Given the description of an element on the screen output the (x, y) to click on. 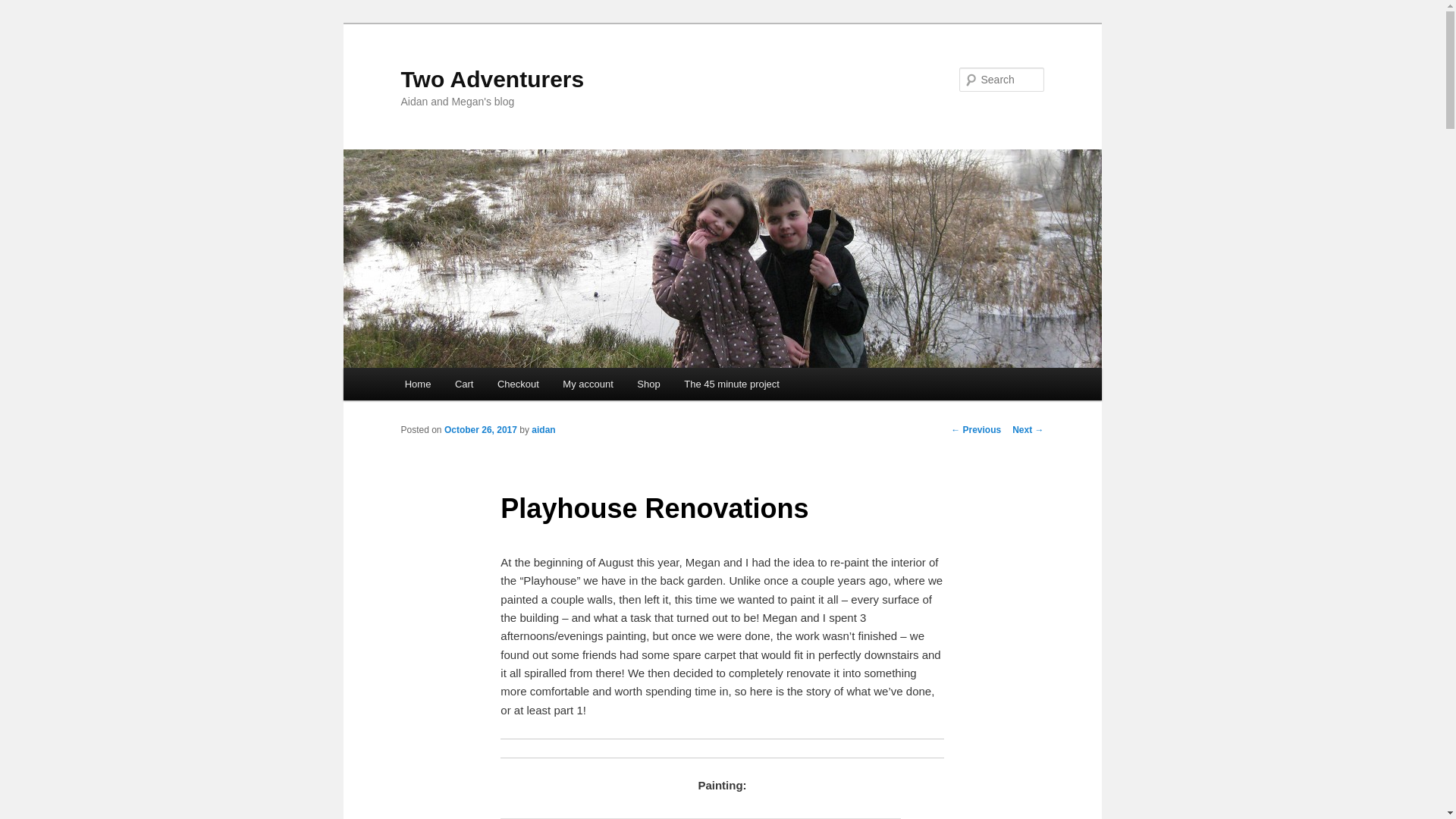
Skip to primary content (472, 386)
Skip to primary content (472, 386)
Search (24, 8)
The 45 minute project (730, 383)
My account (588, 383)
Cart (463, 383)
Two Adventurers (491, 78)
Two Adventurers (491, 78)
Home (417, 383)
Skip to secondary content (479, 386)
3:39 pm (480, 429)
aidan (542, 429)
Checkout (517, 383)
Skip to secondary content (479, 386)
October 26, 2017 (480, 429)
